Given the description of an element on the screen output the (x, y) to click on. 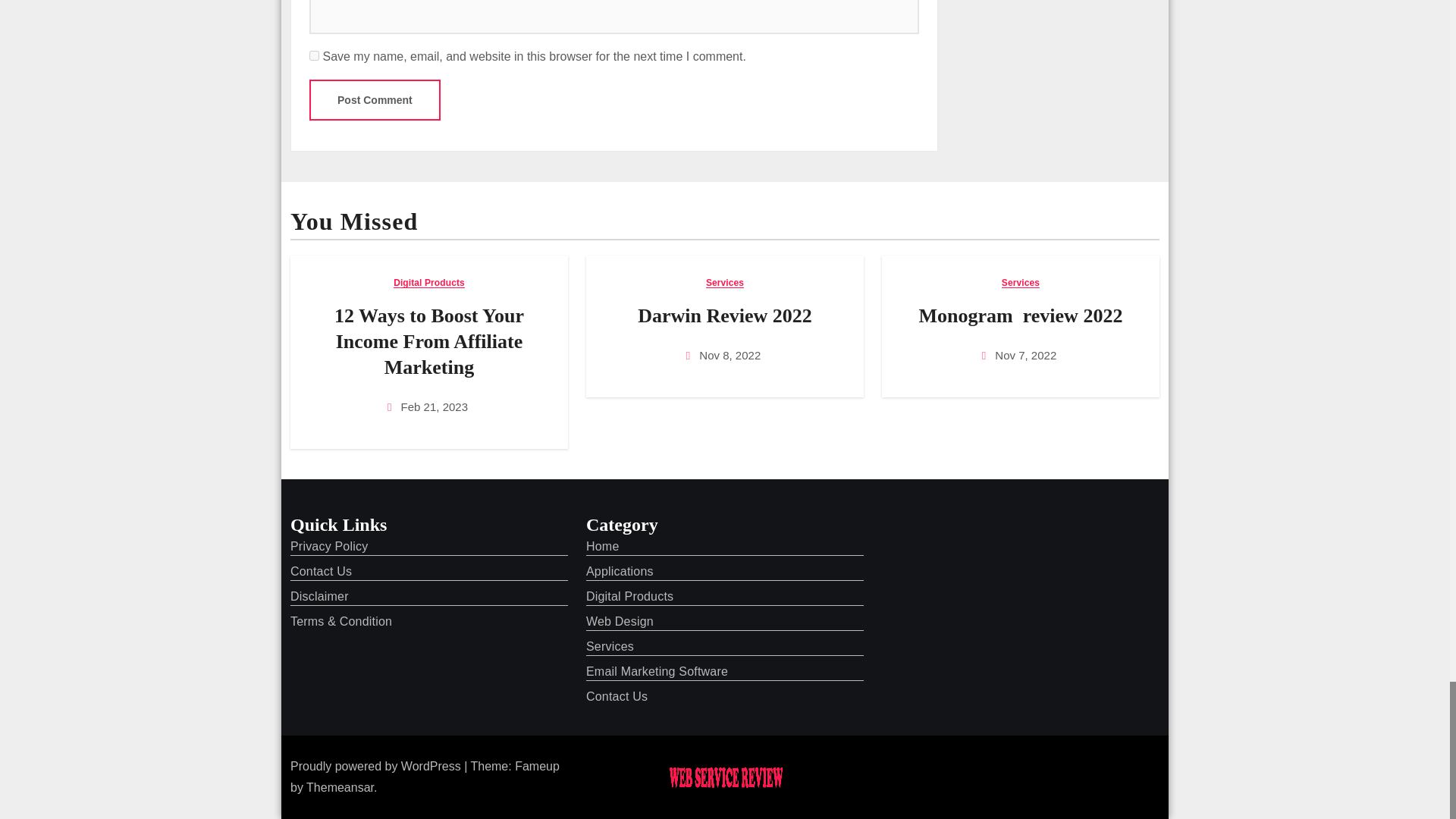
yes (313, 55)
Permalink to: Darwin Review 2022 (724, 315)
Post Comment (374, 99)
Post Comment (374, 99)
